Given the description of an element on the screen output the (x, y) to click on. 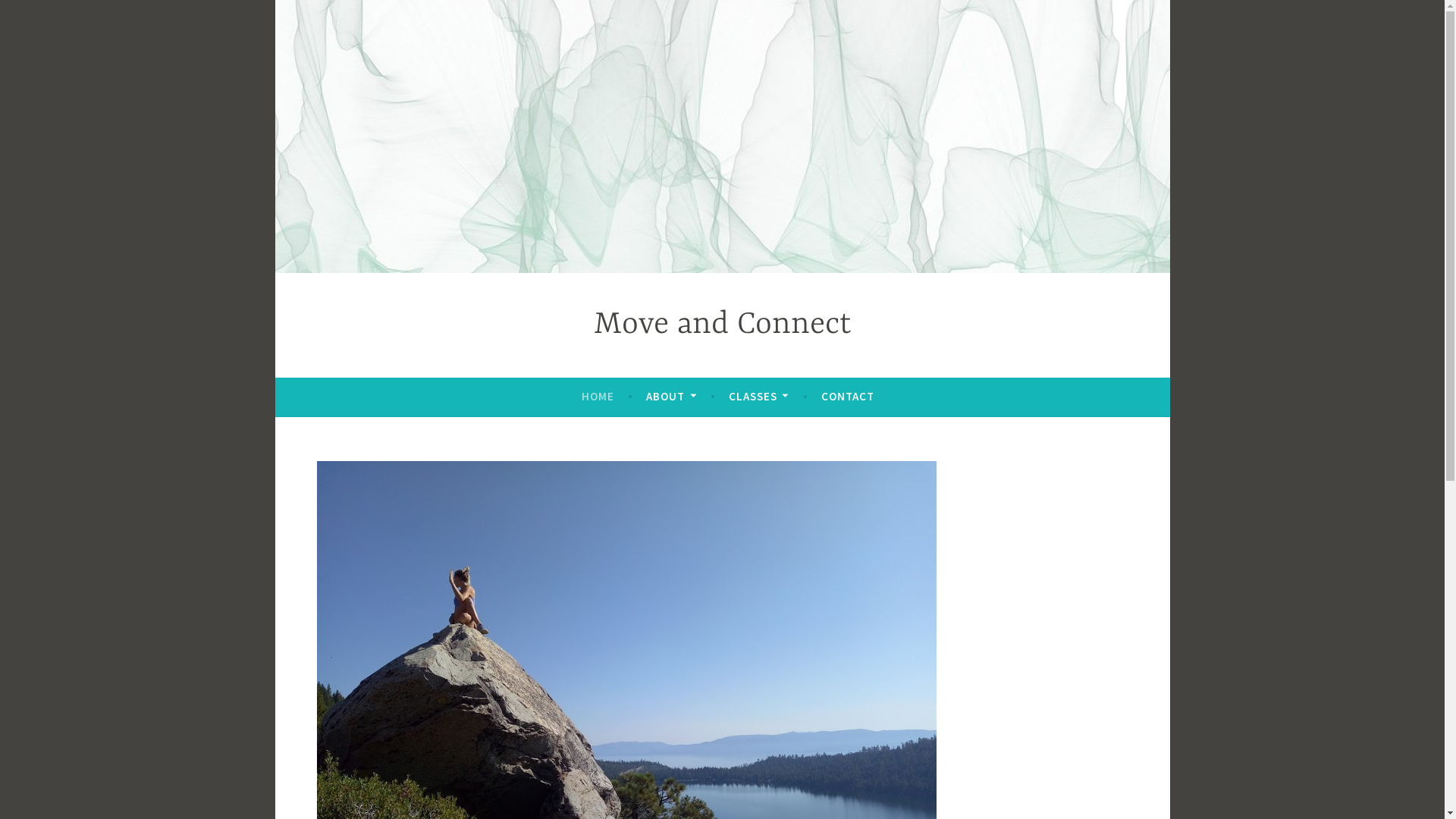
CLASSES Element type: text (758, 396)
CONTACT Element type: text (847, 396)
ABOUT Element type: text (671, 396)
Move and Connect Element type: text (722, 324)
Skip to content Element type: text (274, 0)
HOME Element type: text (597, 396)
